Given the description of an element on the screen output the (x, y) to click on. 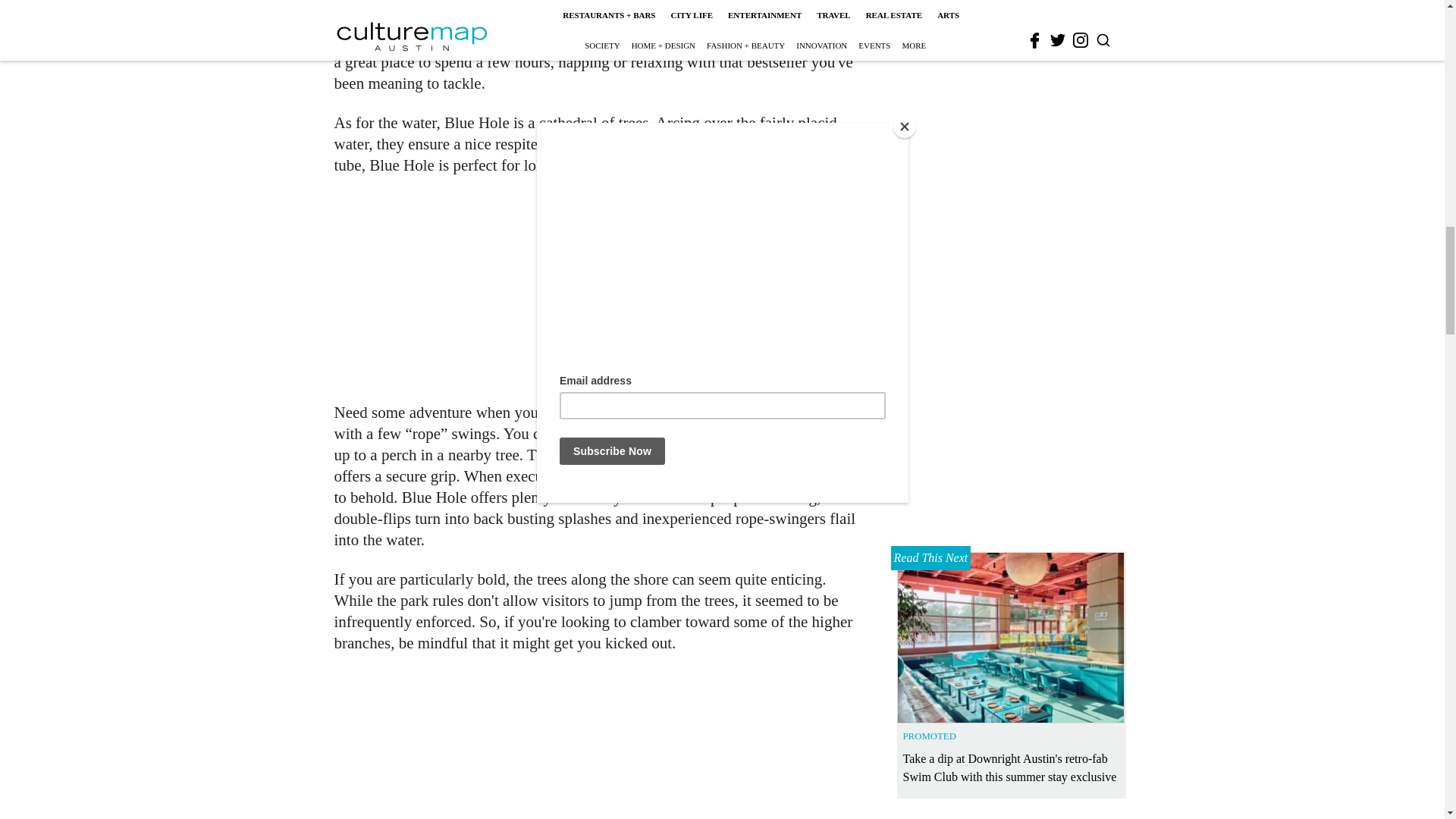
3rd party ad content (600, 289)
3rd party ad content (600, 745)
